Given the description of an element on the screen output the (x, y) to click on. 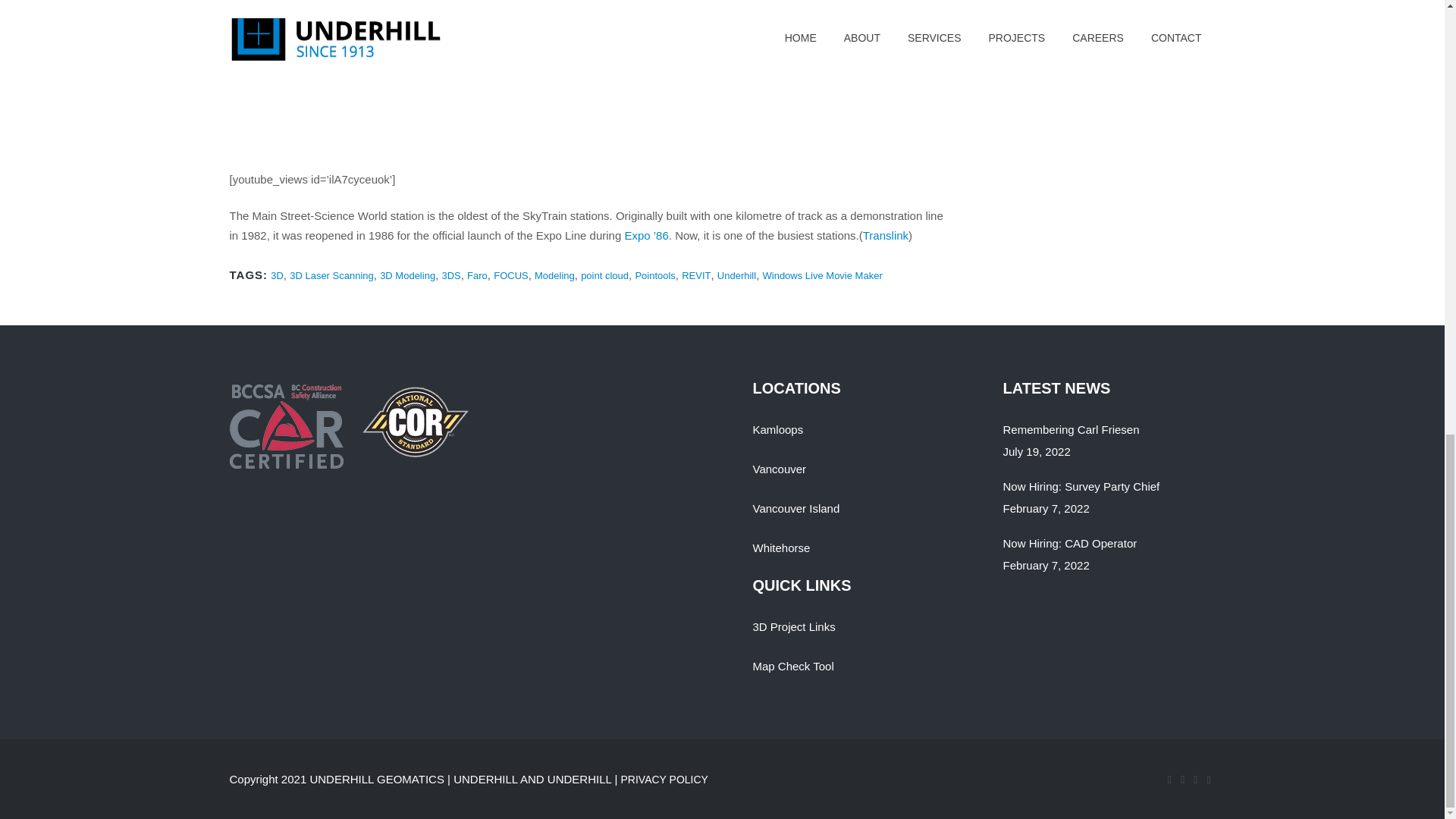
Expo '86 (646, 235)
Main Street Skytrain Station - 3D laser scan and Revit model (630, 81)
